Given the description of an element on the screen output the (x, y) to click on. 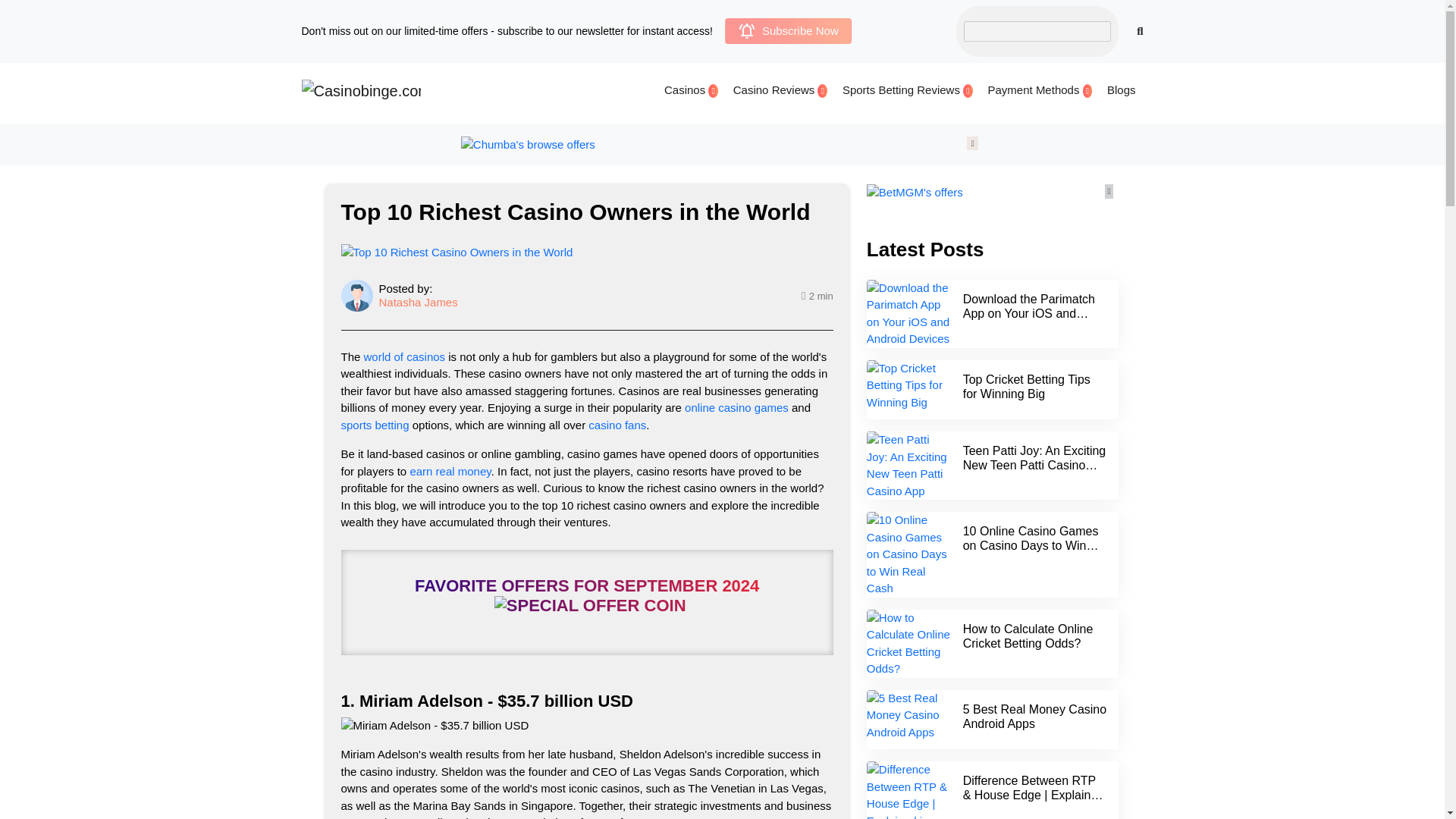
Payment Methods (1039, 89)
Casinos (690, 89)
10 Online Casino Games on Casino Days to Win Real Cash (1030, 545)
Top Cricket Betting Tips for Winning Big (1026, 386)
earn real money (449, 471)
How to Calculate Online Cricket Betting Odds? (1027, 636)
Casino Reviews (779, 89)
Download the Parimatch App on Your iOS and Android Devices (1028, 313)
casino fans (617, 424)
Teen Patti Joy: An Exciting New Teen Patti Casino App (1034, 465)
